Given the description of an element on the screen output the (x, y) to click on. 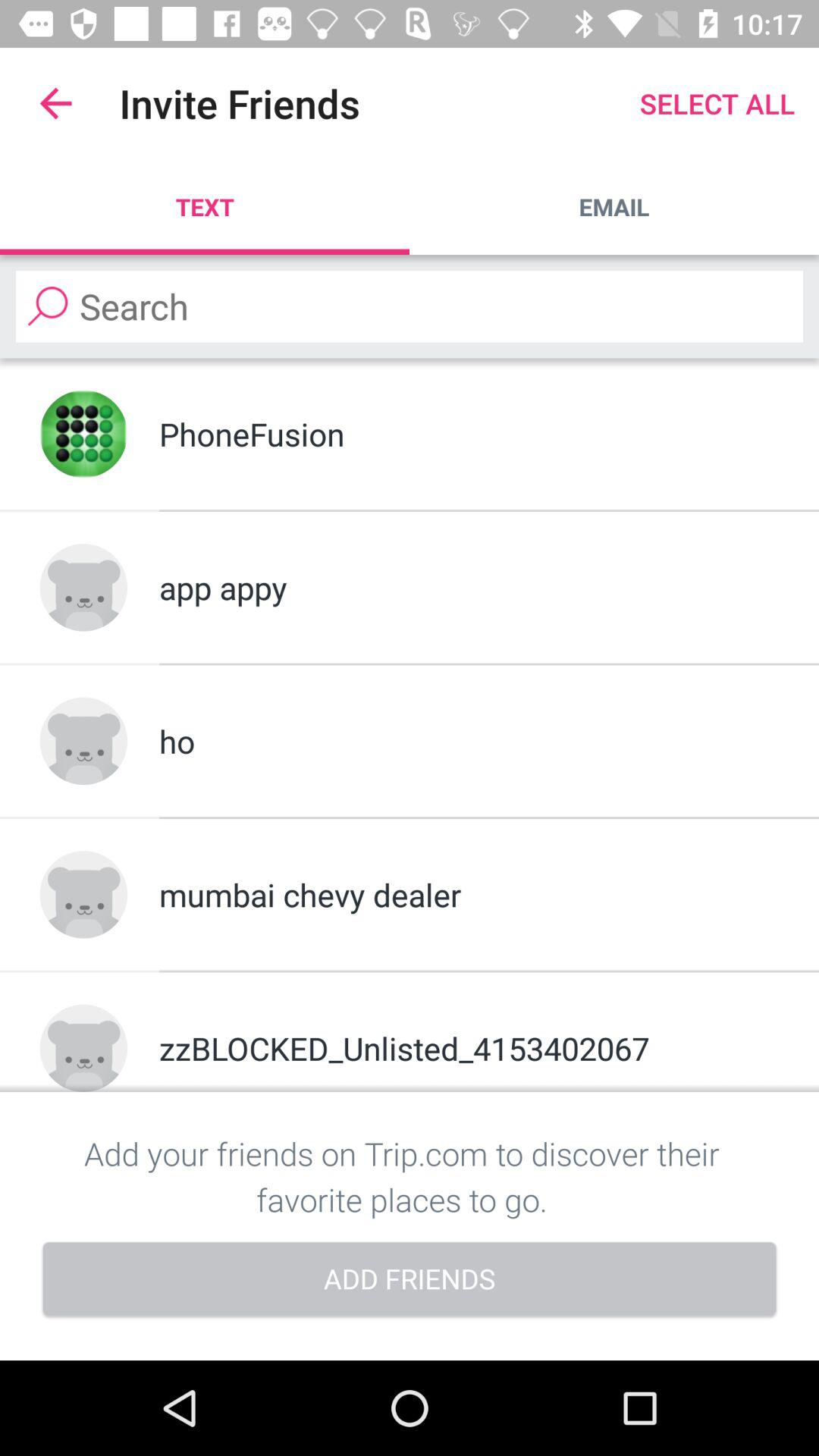
turn on the zzblocked_unlisted_4153402067 icon (469, 1048)
